Given the description of an element on the screen output the (x, y) to click on. 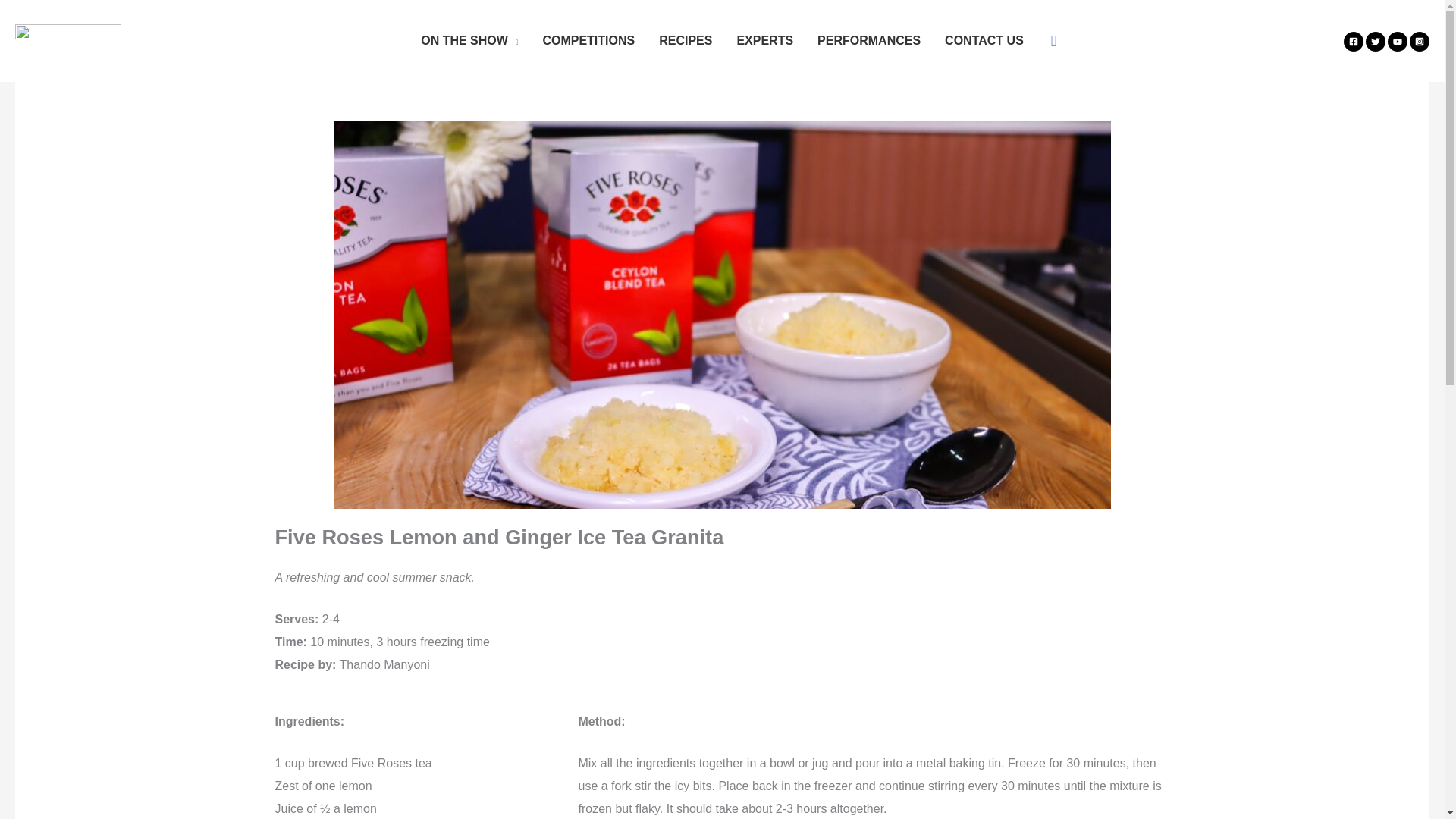
ON THE SHOW (469, 40)
COMPETITIONS (587, 40)
CONTACT US (984, 40)
RECIPES (684, 40)
PERFORMANCES (869, 40)
EXPERTS (764, 40)
Search (18, 15)
